Given the description of an element on the screen output the (x, y) to click on. 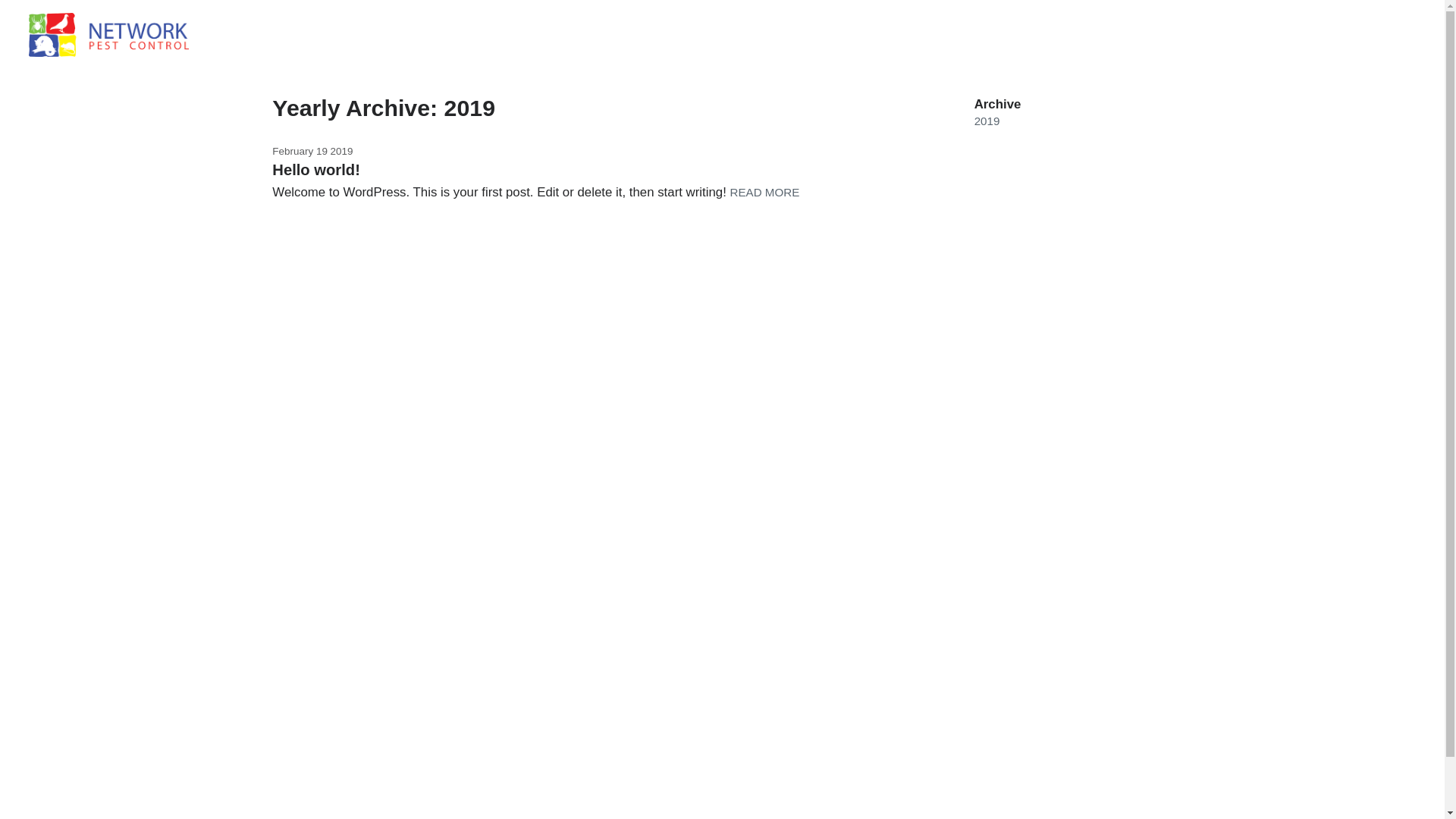
Hello world! Element type: text (316, 169)
READ MORE Element type: text (765, 191)
2019 Element type: text (987, 120)
